Given the description of an element on the screen output the (x, y) to click on. 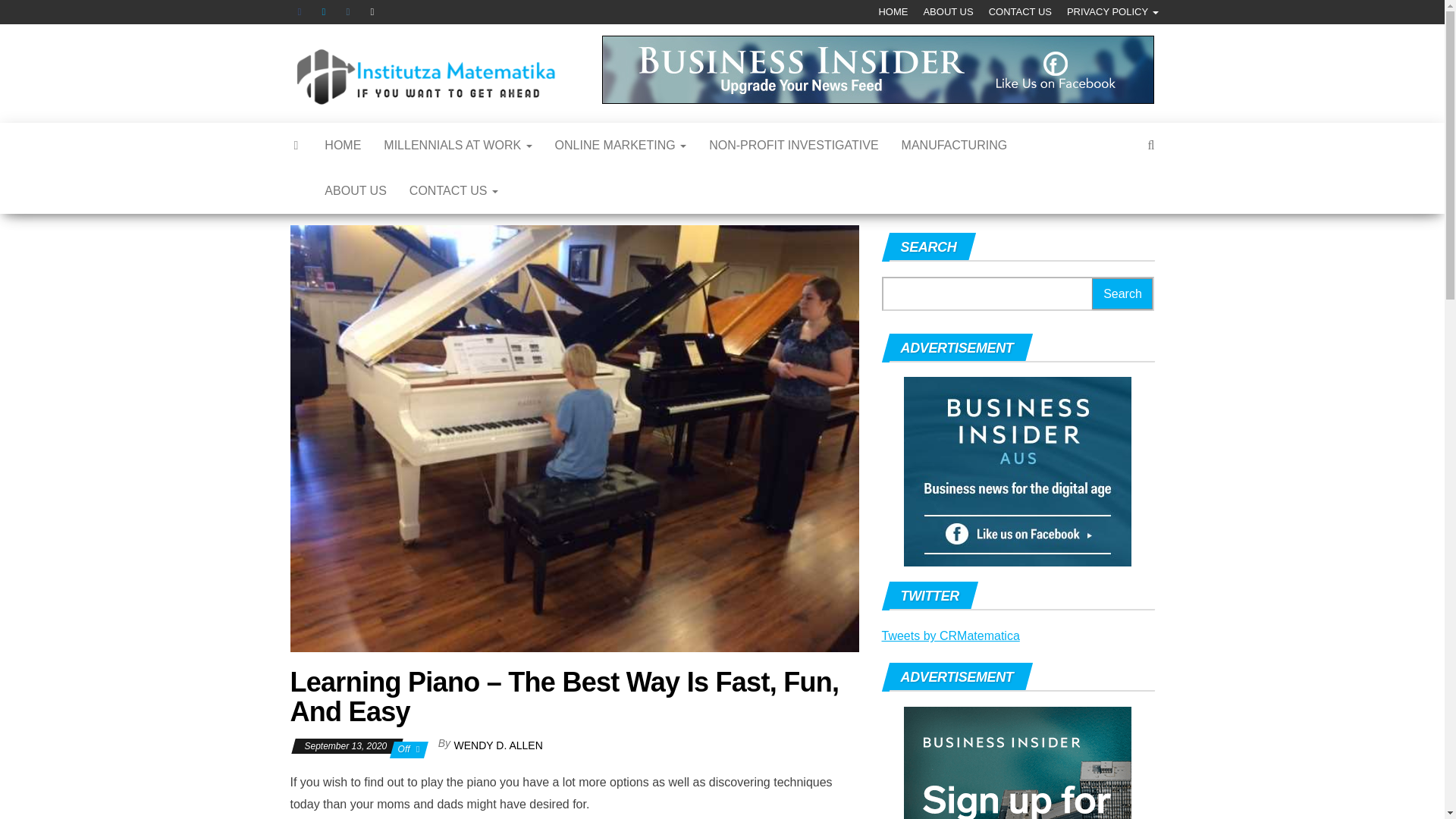
Search (1122, 293)
Millennials At Work (457, 145)
Instagram (349, 12)
Contact Us (1020, 12)
Home (342, 145)
WENDY D. ALLEN (498, 745)
Home (892, 12)
ABOUT US (947, 12)
Privacy Policy (1112, 12)
FACEBOOK (301, 12)
